Given the description of an element on the screen output the (x, y) to click on. 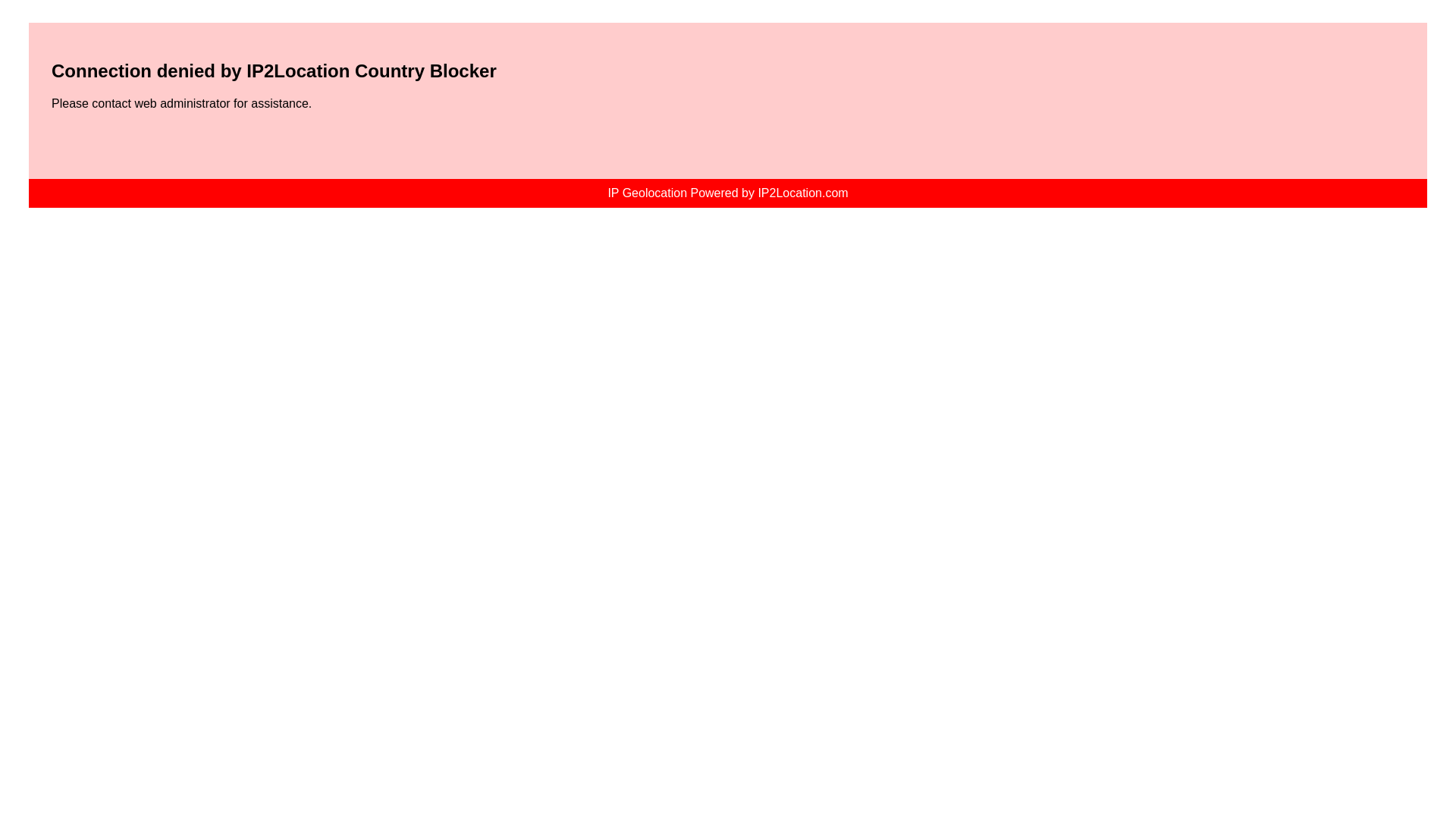
IP Geolocation Powered by IP2Location.com Element type: text (727, 192)
